Given the description of an element on the screen output the (x, y) to click on. 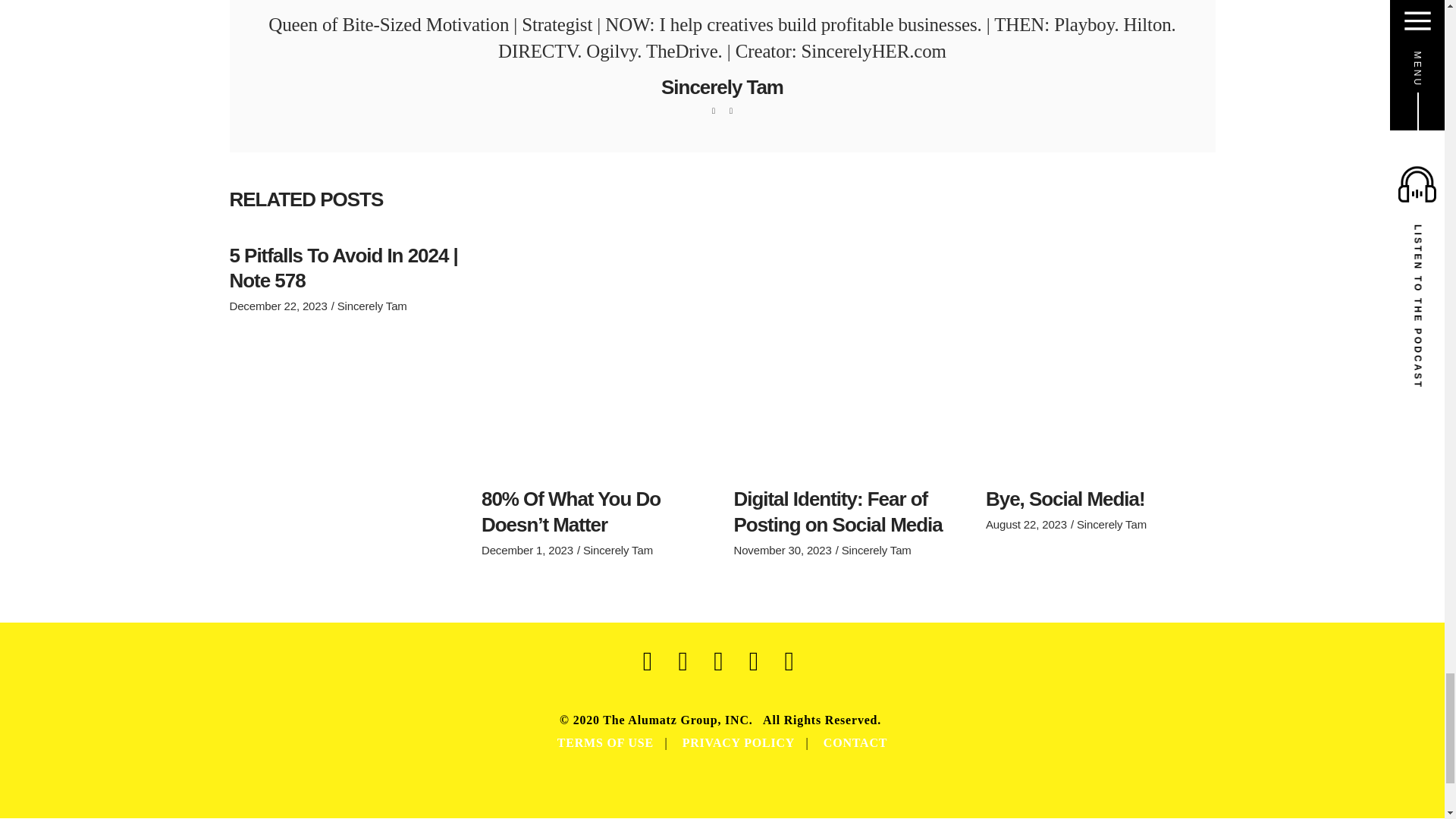
Digital Identity: Fear of Posting on Social Media (848, 358)
Digital Identity: Fear of Posting on Social Media (837, 511)
Bye, Social Media! (1100, 358)
Bye, Social Media! (1064, 498)
